Given the description of an element on the screen output the (x, y) to click on. 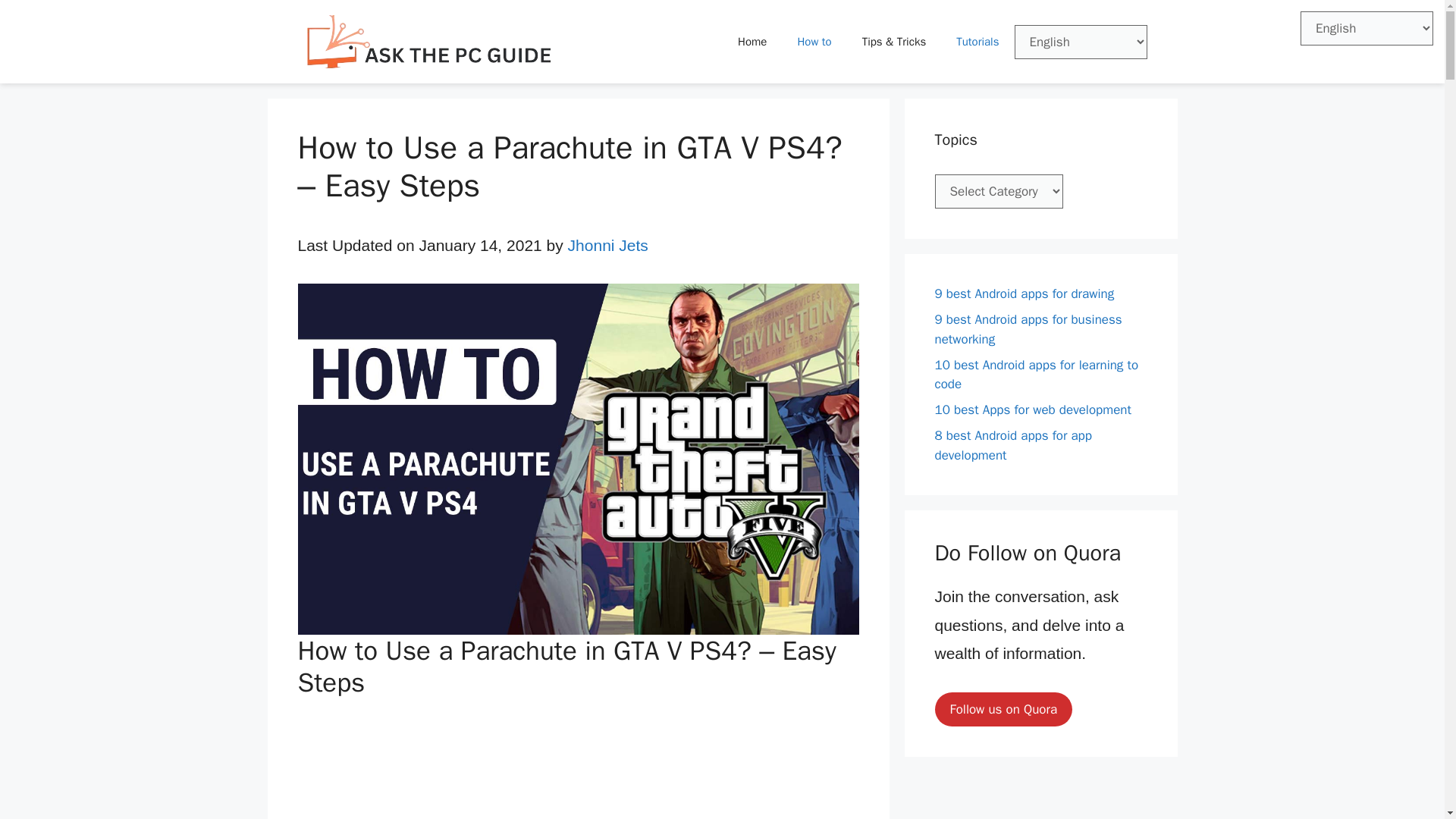
10 best Apps for web development (1032, 409)
10 best Android apps for learning to code (1036, 374)
Advertisement (578, 766)
Tutorials (976, 41)
Follow us on Quora (1002, 709)
How to (813, 41)
9 best Android apps for drawing (1023, 293)
Home (751, 41)
8 best Android apps for app development (1012, 445)
Jhonni Jets (607, 244)
